Given the description of an element on the screen output the (x, y) to click on. 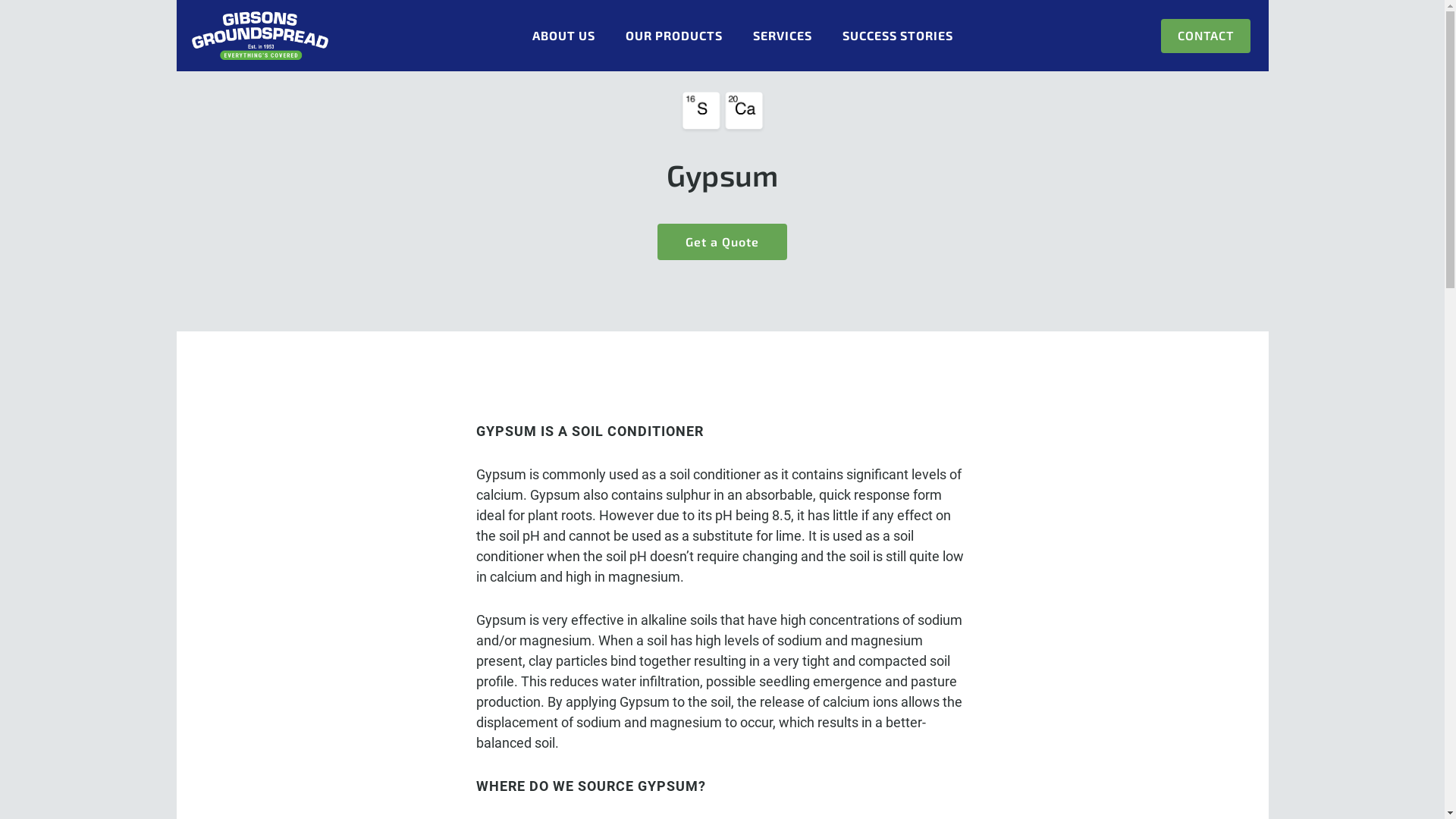
About Us Element type: text (311, 37)
OUR PRODUCTS Element type: text (673, 35)
SERVICES Element type: text (782, 35)
CONTACT Element type: text (1204, 35)
Nitrogen Element type: text (721, 44)
Careers Element type: text (1130, 37)
History Element type: text (584, 37)
Get a Quote Element type: text (722, 241)
ABOUT US Element type: text (563, 35)
Team Element type: text (857, 37)
SUCCESS STORIES Element type: text (897, 35)
